Given the description of an element on the screen output the (x, y) to click on. 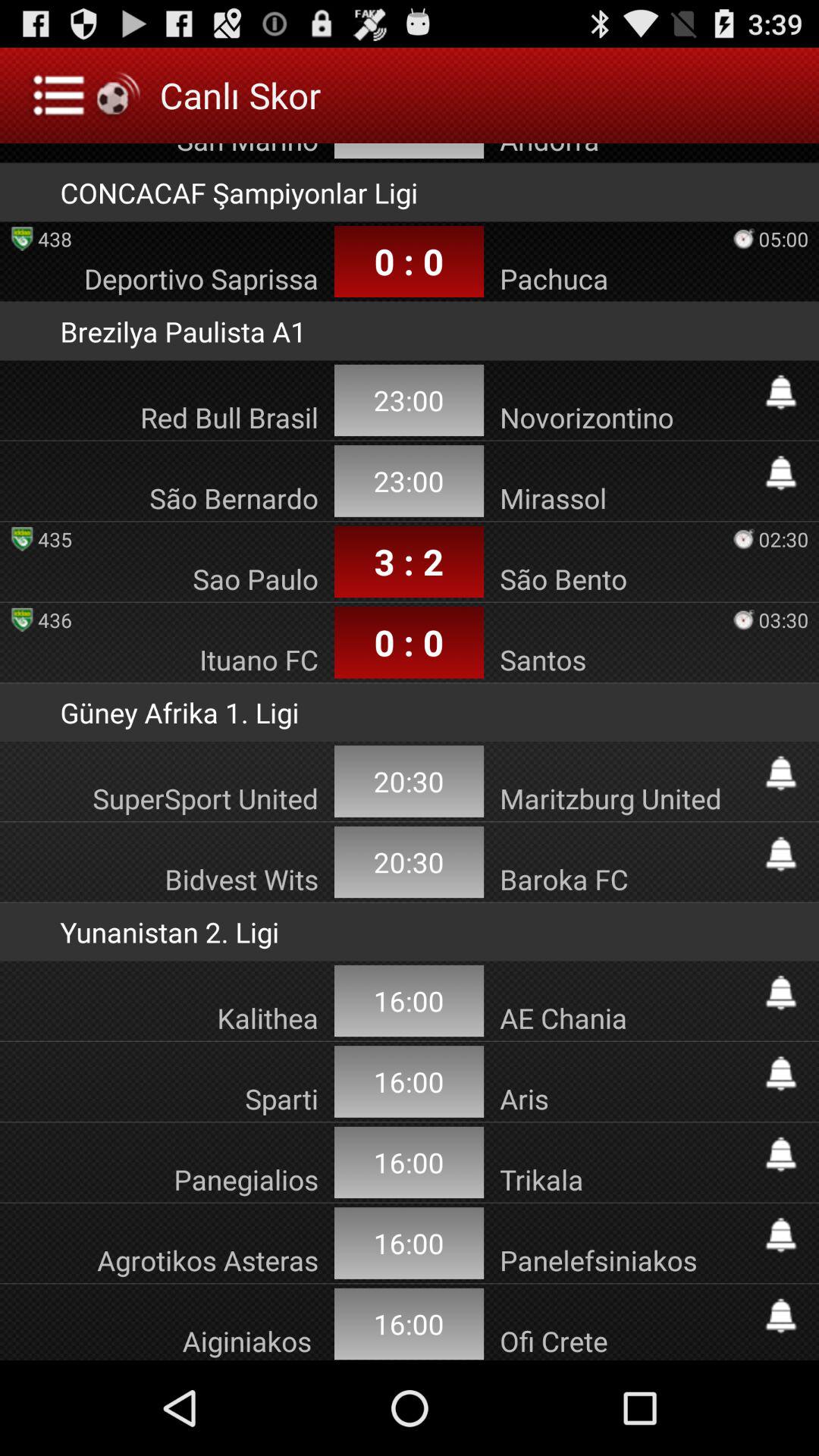
turn off notifications (780, 1235)
